Given the description of an element on the screen output the (x, y) to click on. 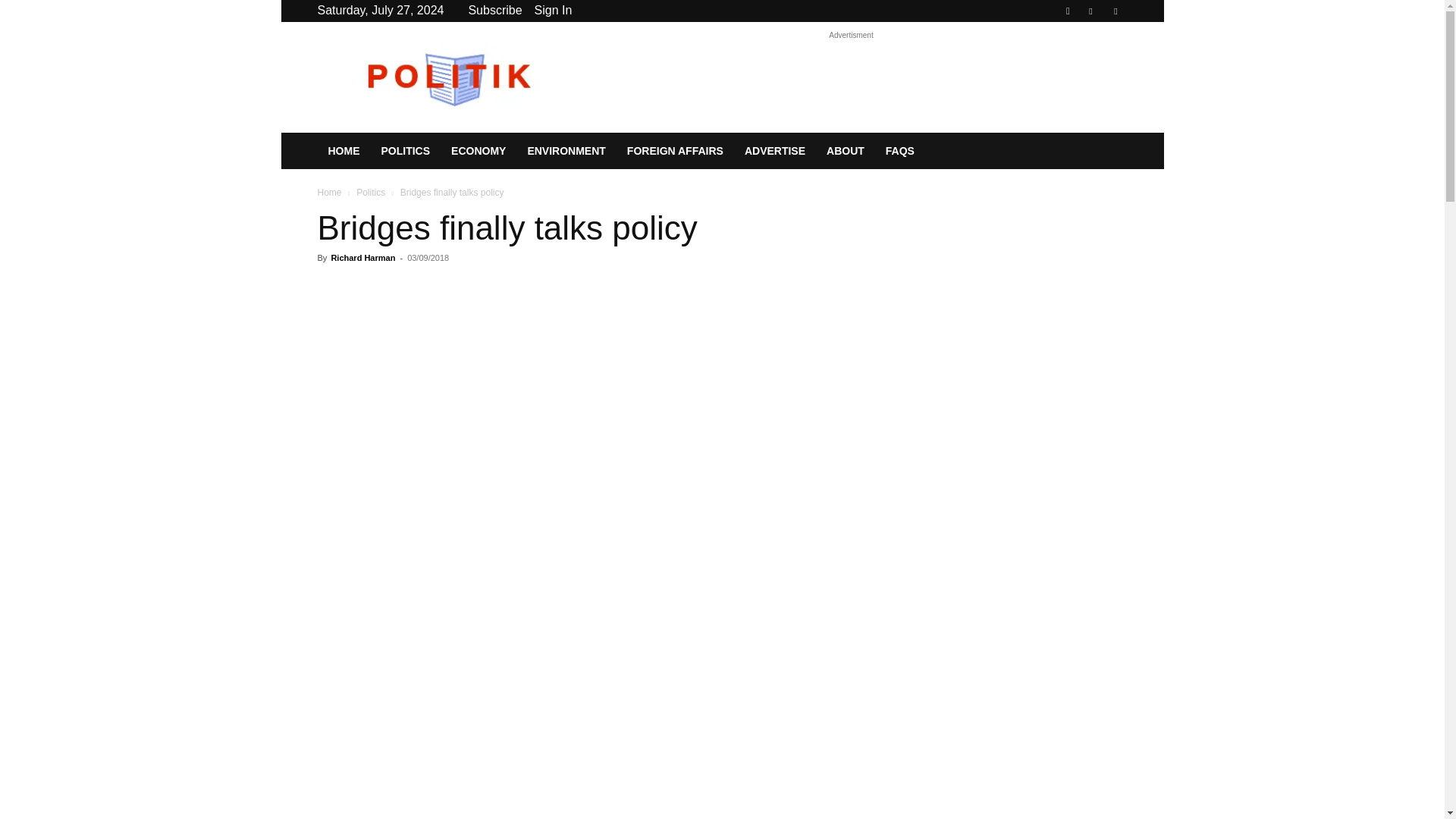
View all posts in Politics (370, 192)
FAQS (899, 150)
HOME (343, 150)
ADVERTISE (774, 150)
Politics (370, 192)
FOREIGN AFFAIRS (674, 150)
Search (1085, 64)
ABOUT (845, 150)
Richard Harman (362, 257)
Home (328, 192)
ENVIRONMENT (565, 150)
Twitter (1114, 10)
Sign In (553, 10)
POLITICS (405, 150)
ECONOMY (478, 150)
